Given the description of an element on the screen output the (x, y) to click on. 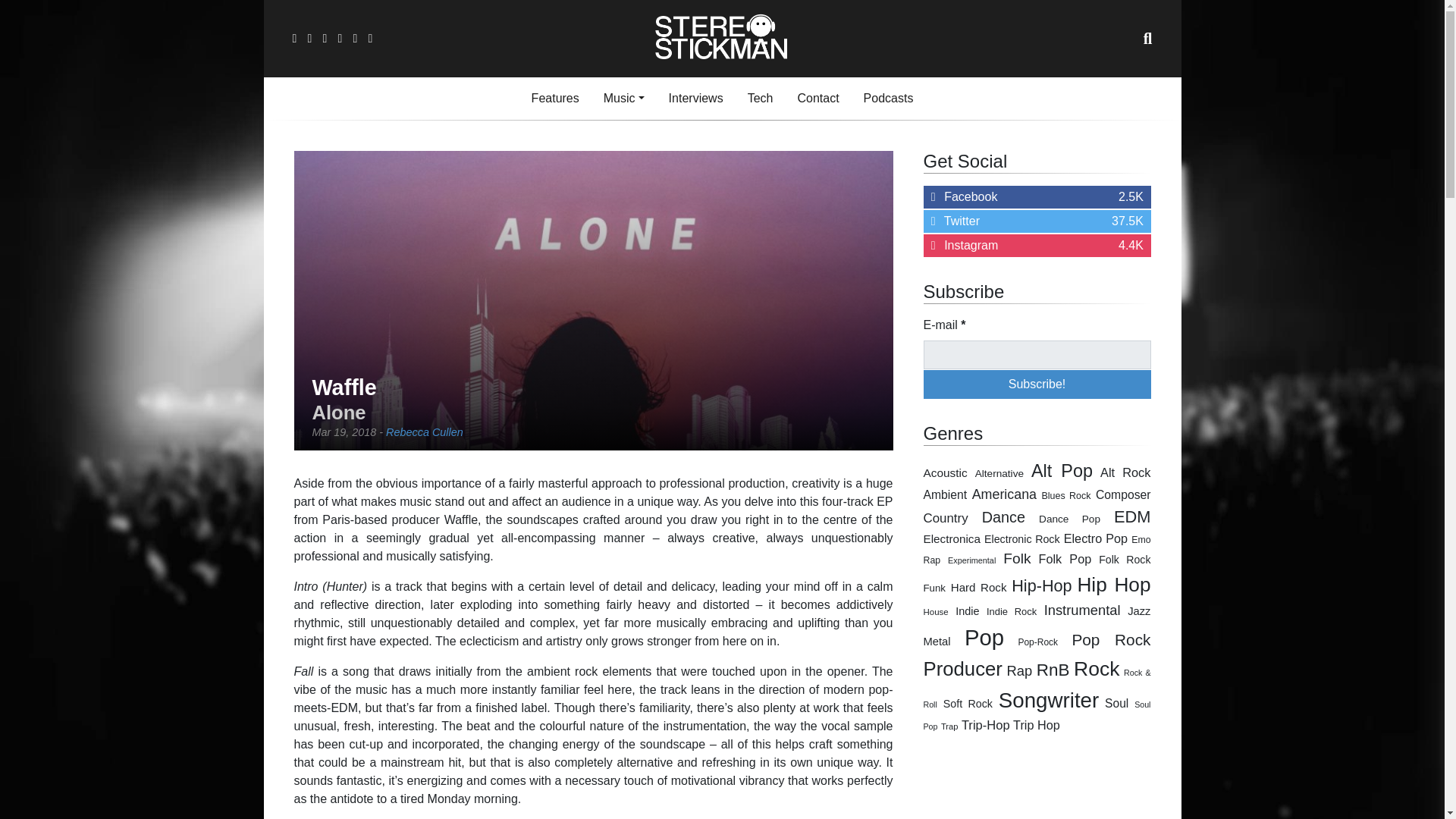
Interviews (695, 98)
Tech (760, 98)
Features (555, 98)
Rebecca Cullen (1037, 220)
Contact (424, 431)
Subscribe! (817, 98)
Interviews (1037, 384)
Music (695, 98)
Podcasts (623, 98)
E-mail (888, 98)
Tech (1037, 354)
Features (760, 98)
Contact (555, 98)
